Given the description of an element on the screen output the (x, y) to click on. 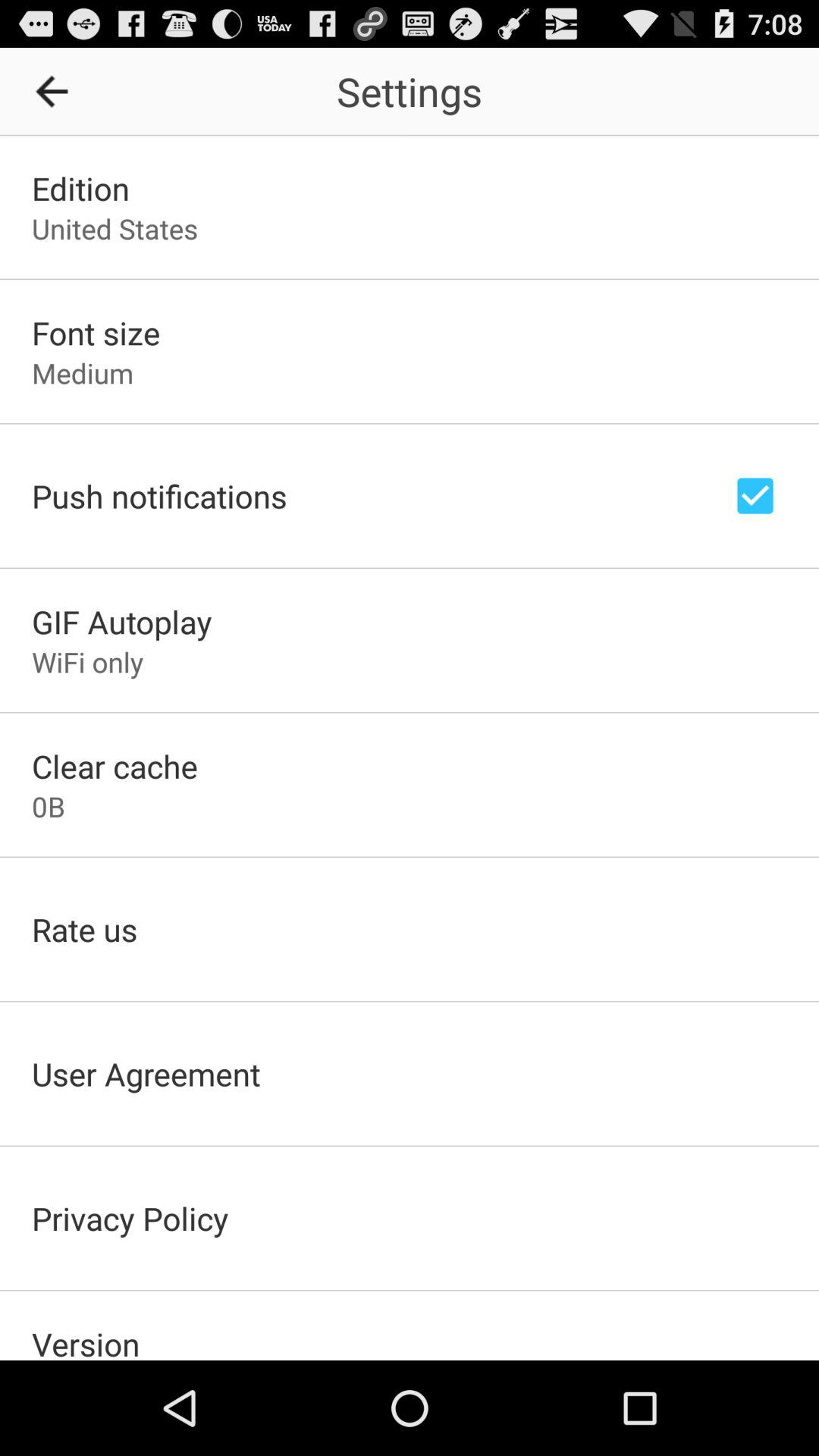
uncheck notifications (755, 495)
